Given the description of an element on the screen output the (x, y) to click on. 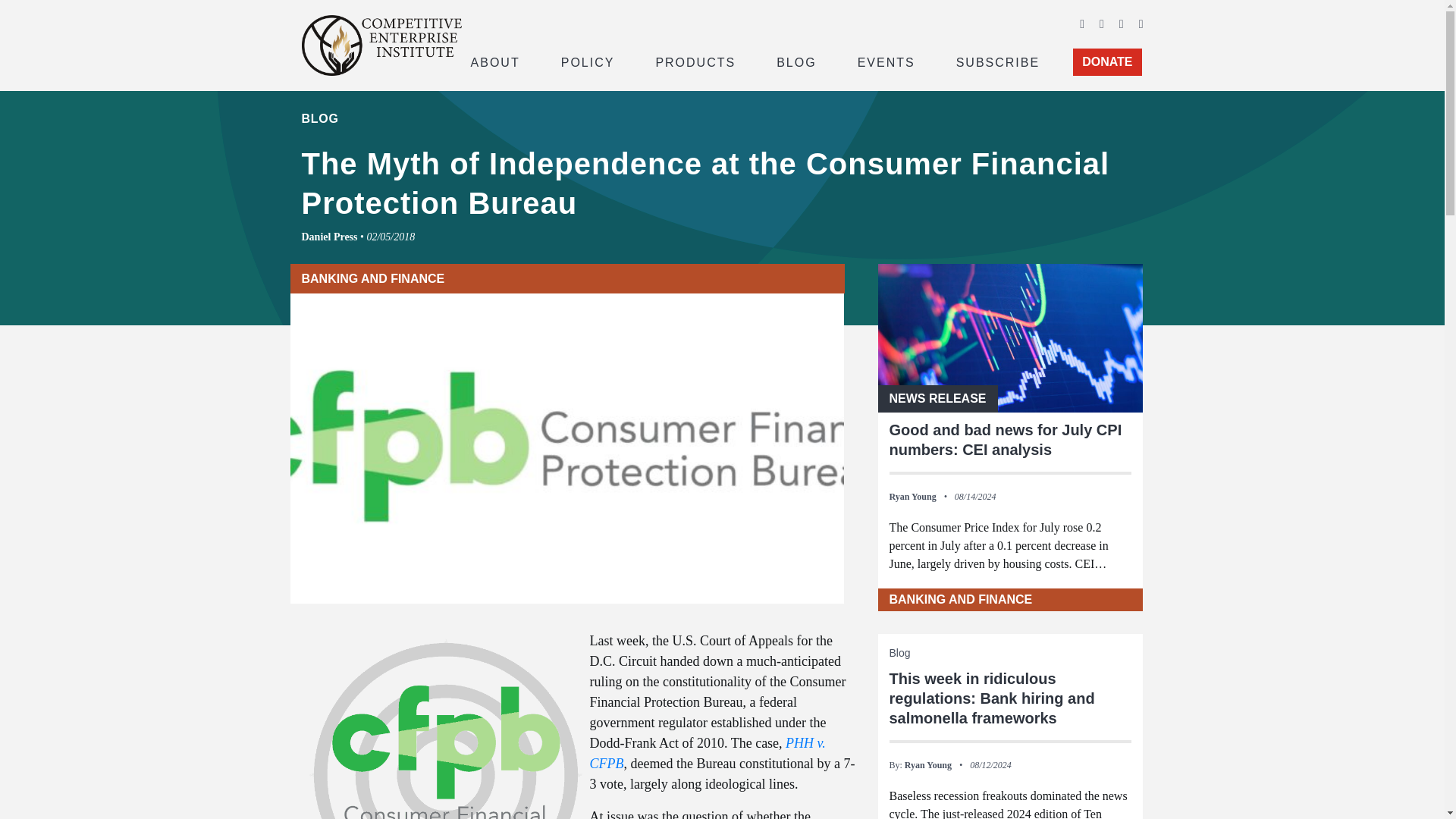
POLICY (588, 61)
SUBSCRIBE (997, 61)
PRODUCTS (694, 61)
EVENTS (886, 61)
BLOG (796, 61)
ABOUT (495, 61)
DONATE (1107, 62)
